Given the description of an element on the screen output the (x, y) to click on. 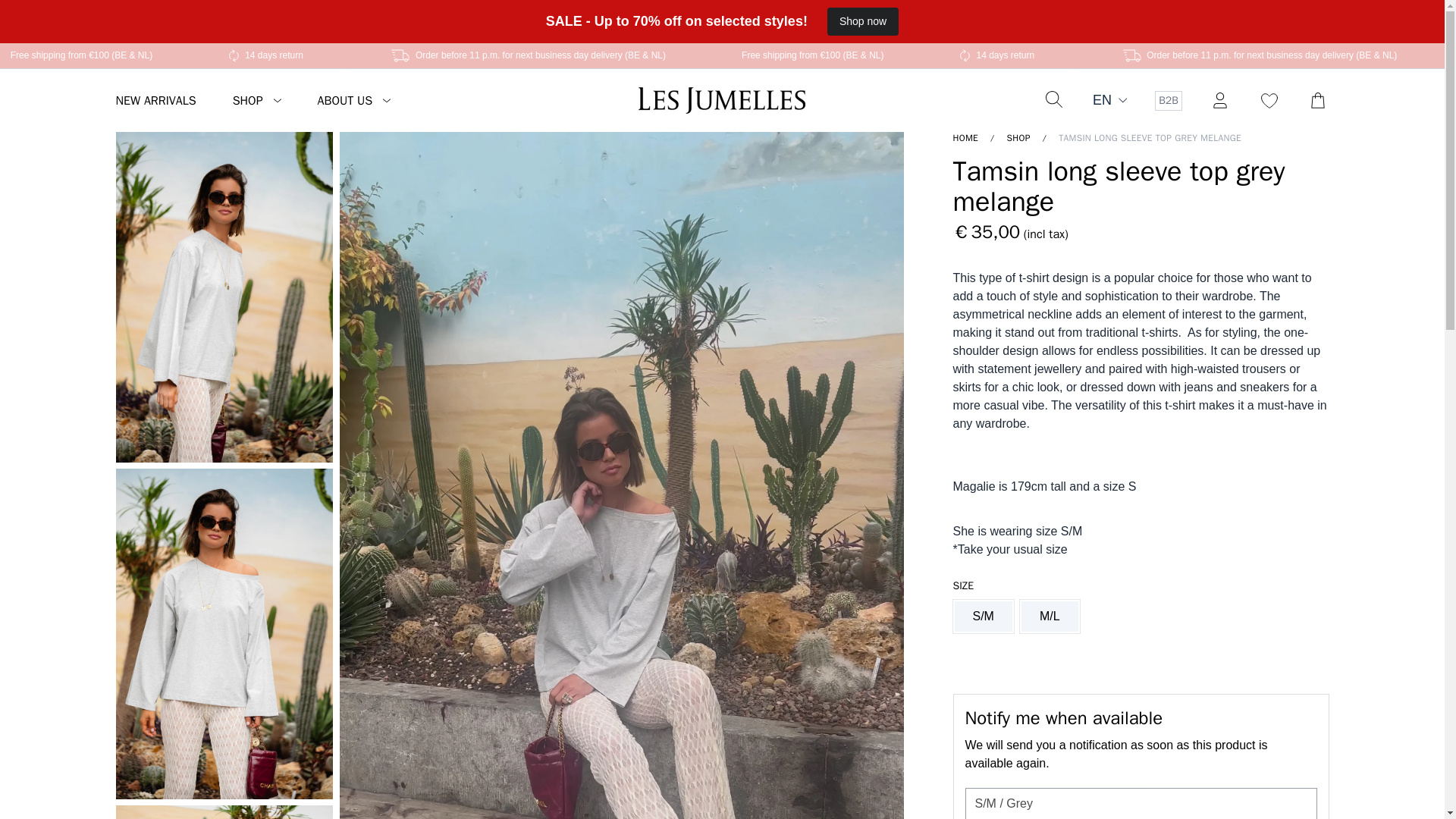
Shop now (862, 21)
